Given the description of an element on the screen output the (x, y) to click on. 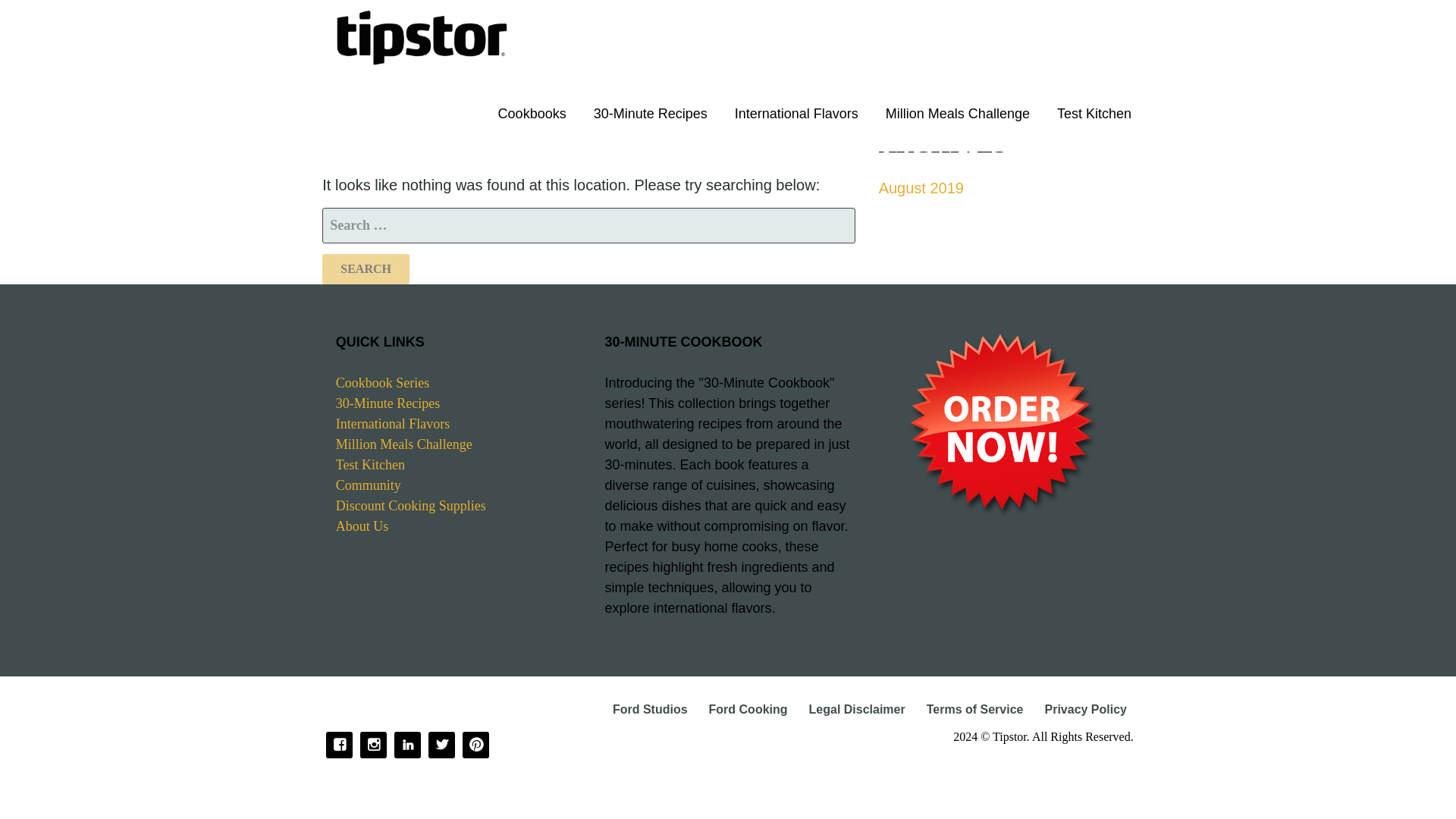
Terms of Service (974, 708)
International Flavors (796, 113)
Test Kitchen (1093, 113)
30-Minute Recipes (649, 113)
Million Meals Challenge (957, 113)
International Flavors (392, 422)
Test Kitchen (370, 463)
30-Minute Recipes (387, 403)
Discount Cooking Supplies (411, 504)
Million Meals Challenge (403, 444)
